Given the description of an element on the screen output the (x, y) to click on. 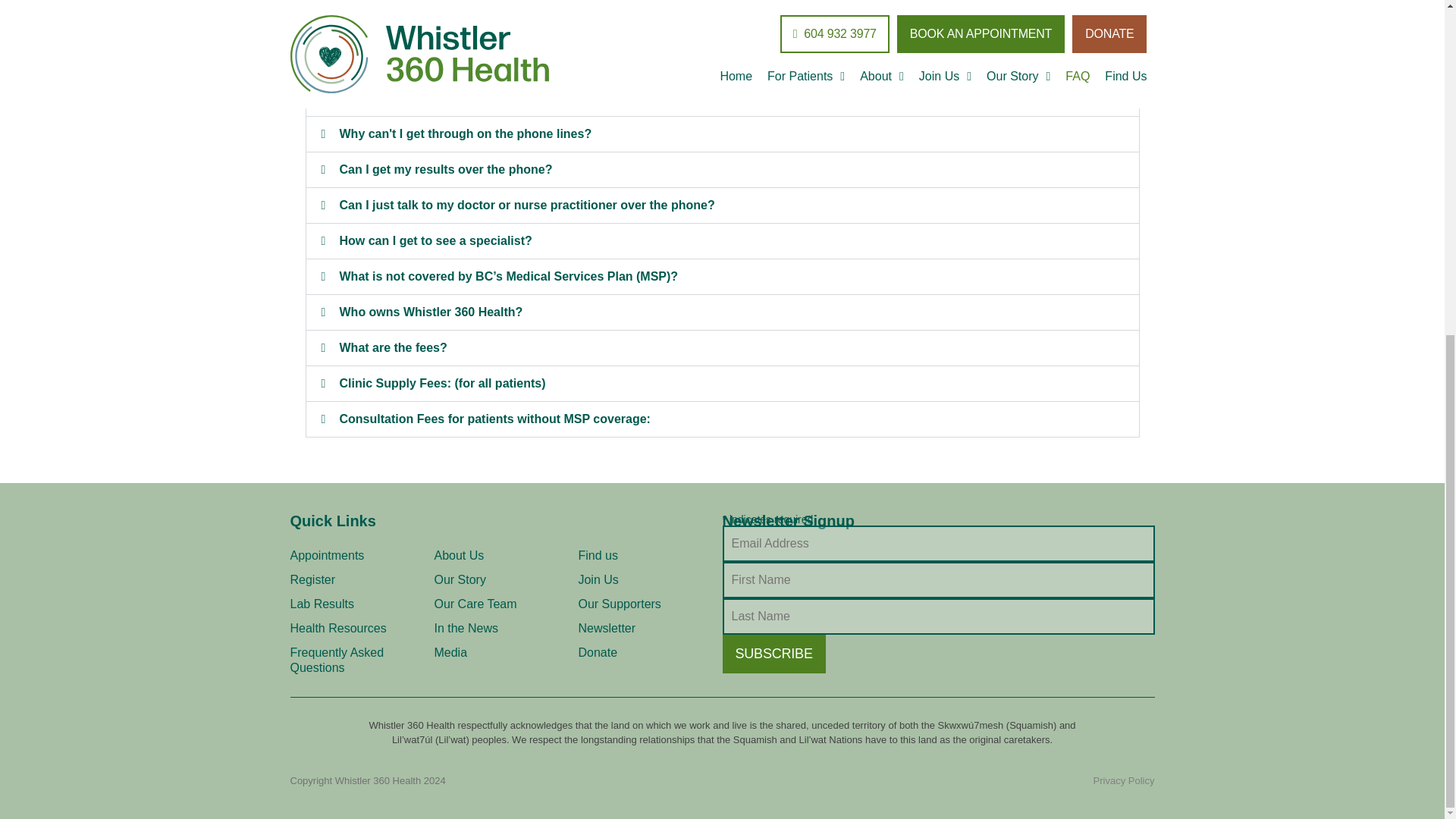
Subscribe (773, 653)
